Given the description of an element on the screen output the (x, y) to click on. 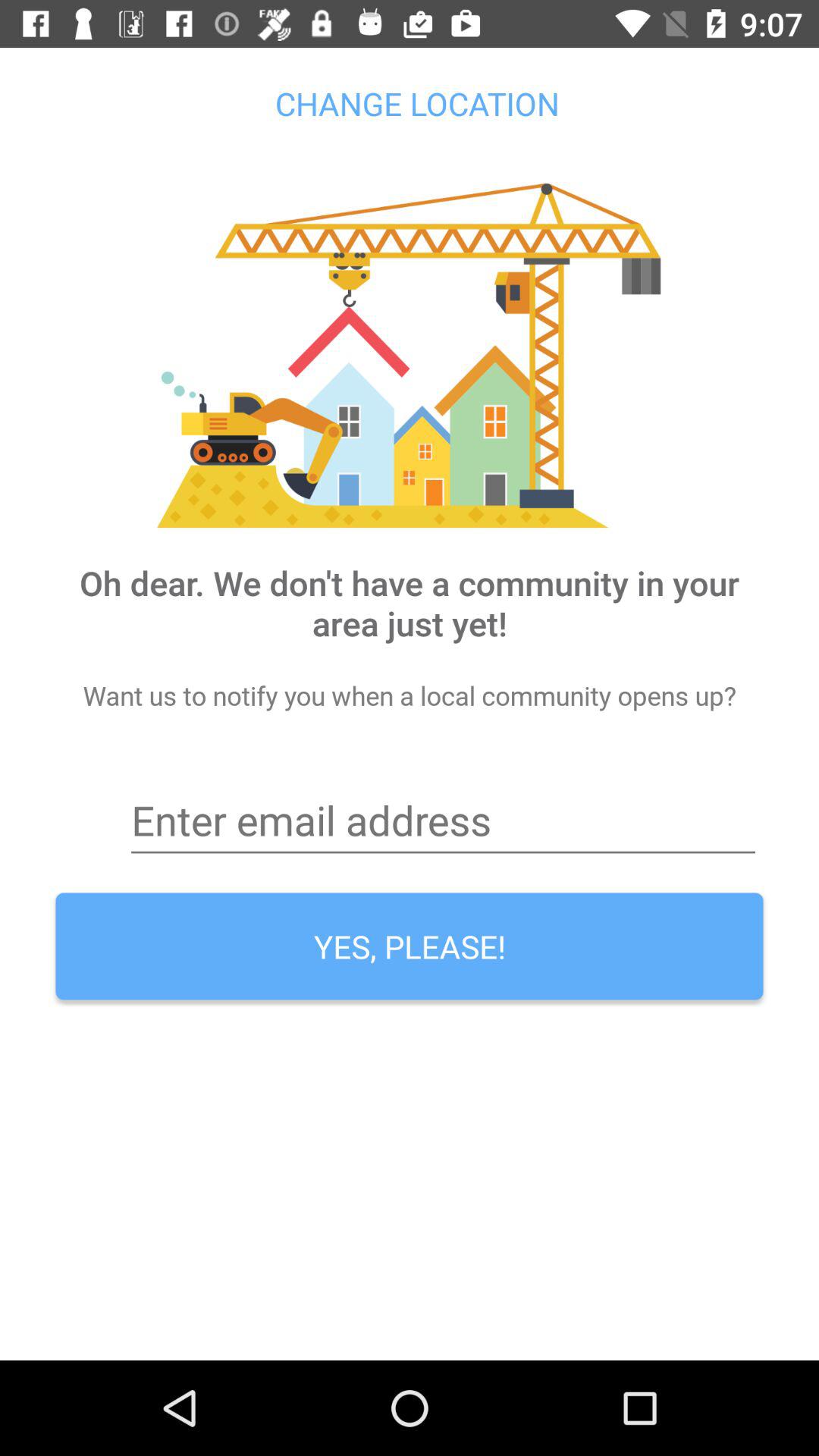
press the change location (409, 103)
